Given the description of an element on the screen output the (x, y) to click on. 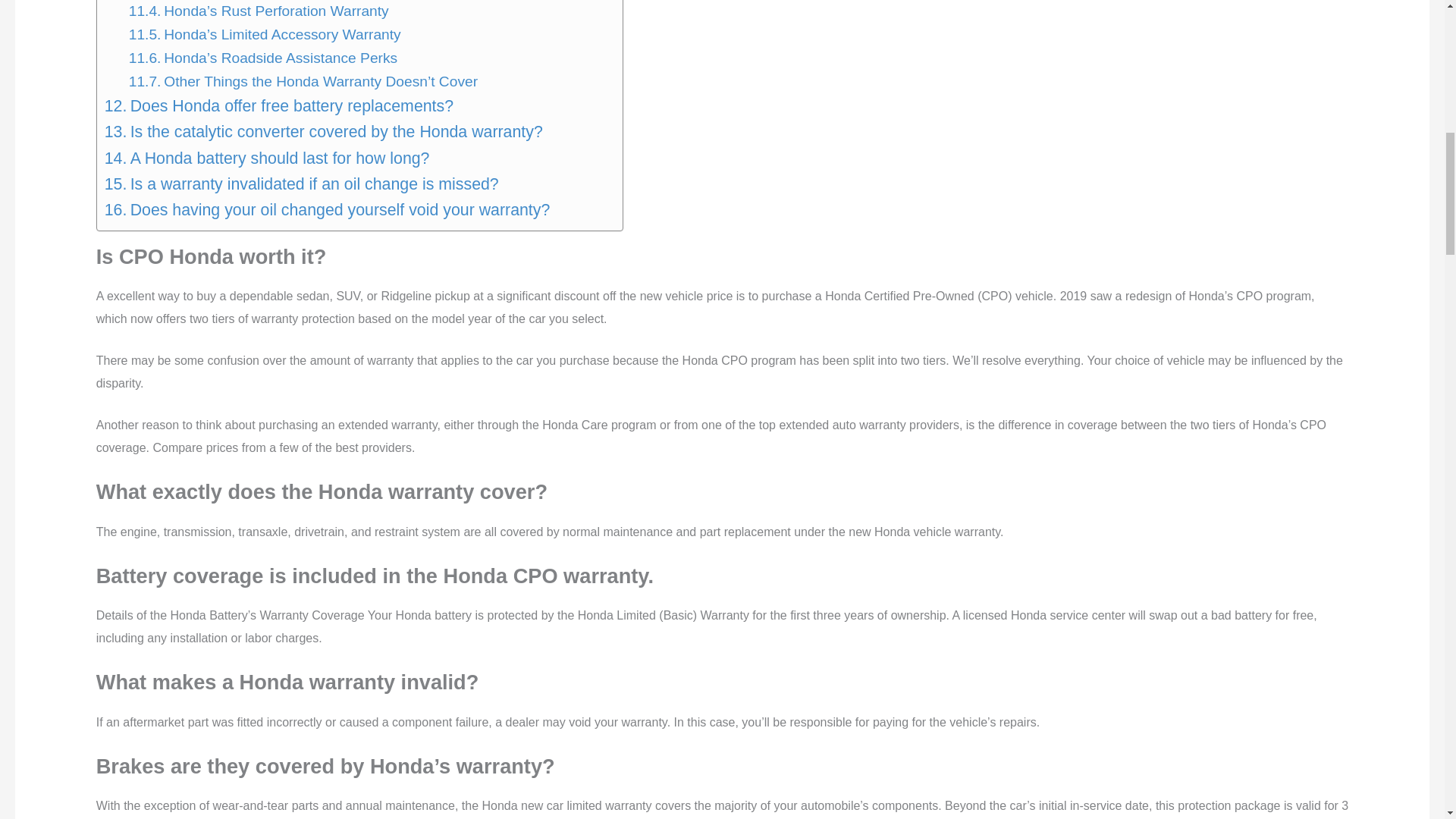
Is a warranty invalidated if an oil change is missed? (301, 184)
A Honda battery should last for how long? (266, 158)
Does having your oil changed yourself void your warranty? (327, 209)
Is the catalytic converter covered by the Honda warranty? (323, 131)
Does Honda offer free battery replacements? (278, 105)
